Given the description of an element on the screen output the (x, y) to click on. 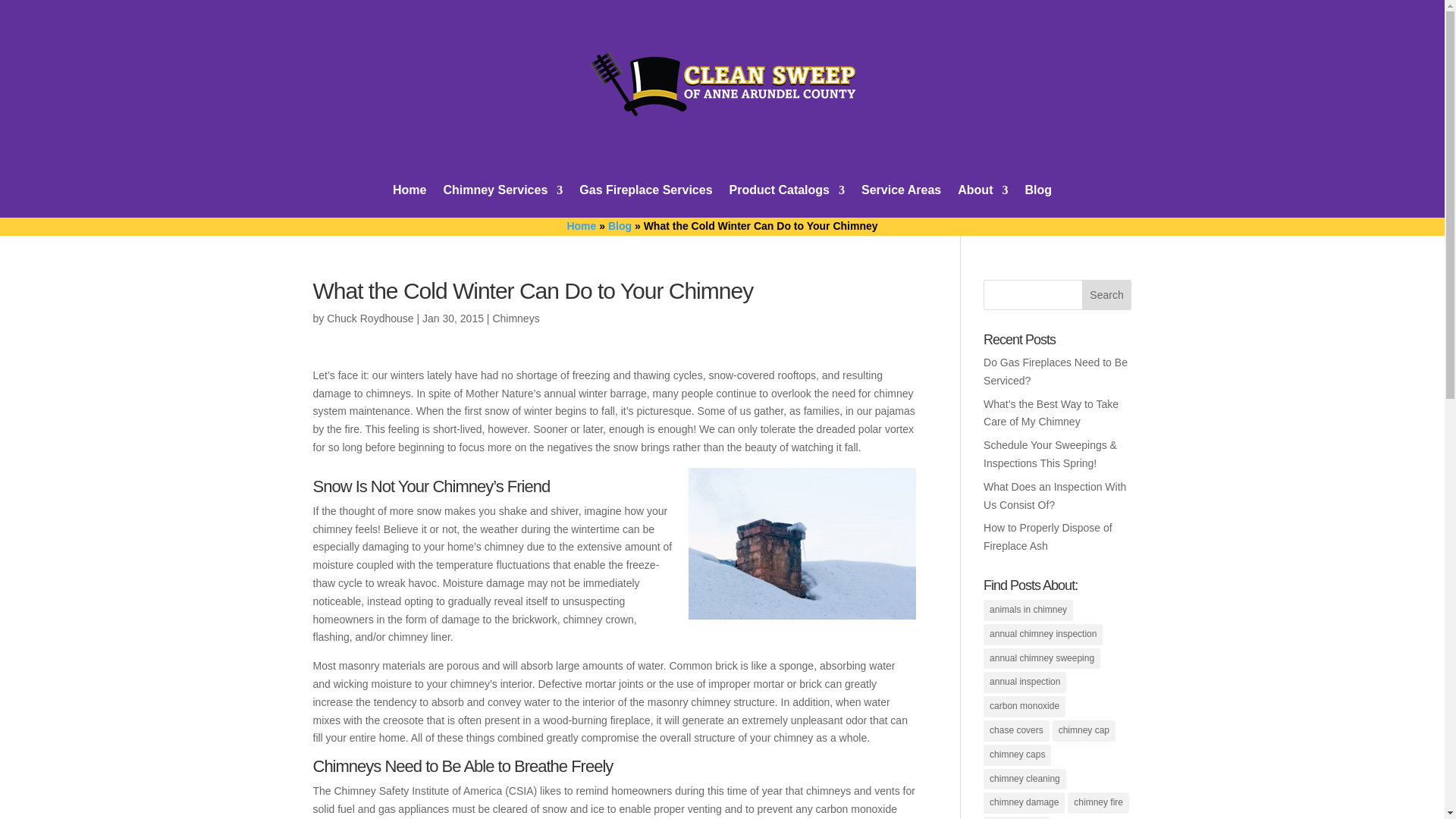
About (982, 201)
Search (1106, 295)
Posts by Chuck Roydhouse (369, 318)
Gas Fireplace Services (645, 201)
Home (409, 201)
Chimney Services (502, 201)
Product Catalogs (786, 201)
Snow on Chimney - Crofton MD - CleanSweepAA.com (801, 543)
Clean Sweep of Anne Arundel county (722, 83)
Blog (1038, 201)
Service Areas (900, 201)
